Given the description of an element on the screen output the (x, y) to click on. 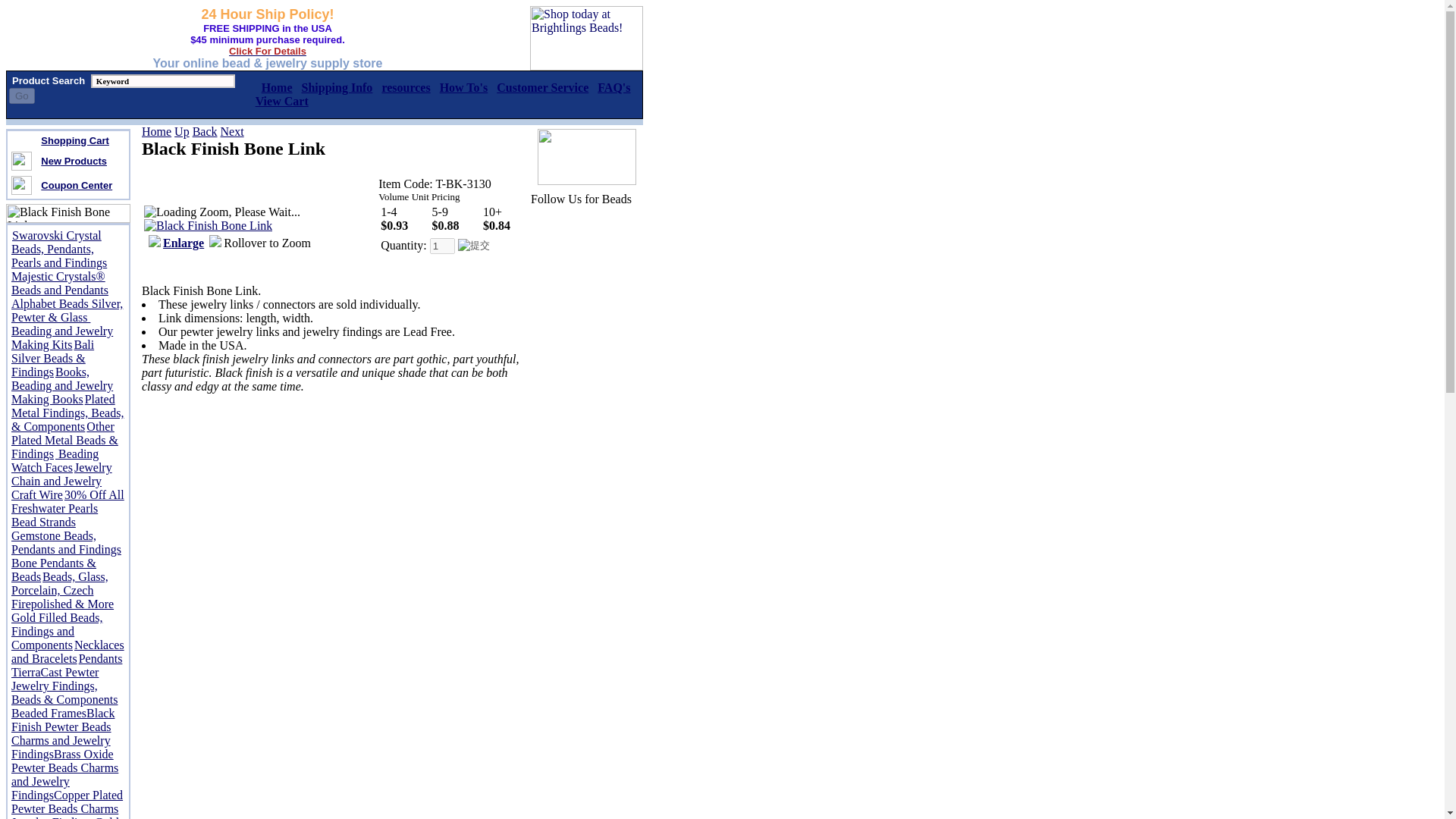
Copper Plated Pewter Beads Charms Jewelry Findings (66, 803)
View Cart (282, 101)
Shopping Cart (74, 139)
Coupon Center (76, 184)
Gemstone Beads, Pendants and Findings (65, 542)
Beading and Jewelry Making Kits (62, 337)
Pendants (100, 658)
FAQ's (613, 87)
Beaded Frames (48, 712)
Necklaces and Bracelets (67, 651)
